Given the description of an element on the screen output the (x, y) to click on. 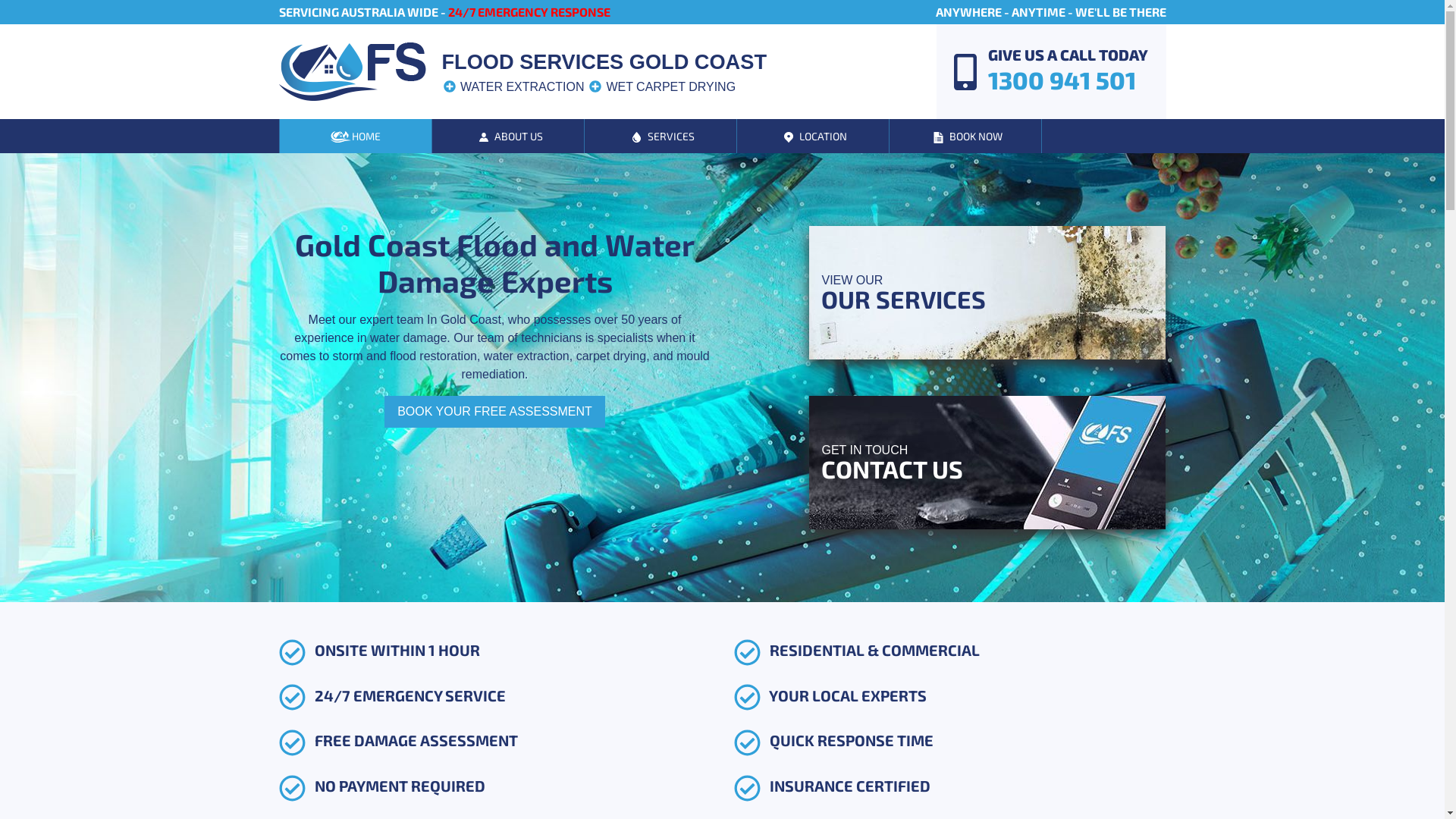
SERVICES Element type: text (659, 136)
BOOK YOUR FREE ASSESSMENT Element type: text (494, 411)
VIEW OUR
OUR SERVICES Element type: text (987, 292)
LOCATION Element type: text (812, 136)
GIVE US A CALL TODAY
1300 941 501 Element type: text (1044, 71)
GET IN TOUCH
CONTACT US Element type: text (987, 462)
BOOK NOW Element type: text (964, 136)
HOME Element type: text (354, 136)
ABOUT US Element type: text (507, 136)
